Given the description of an element on the screen output the (x, y) to click on. 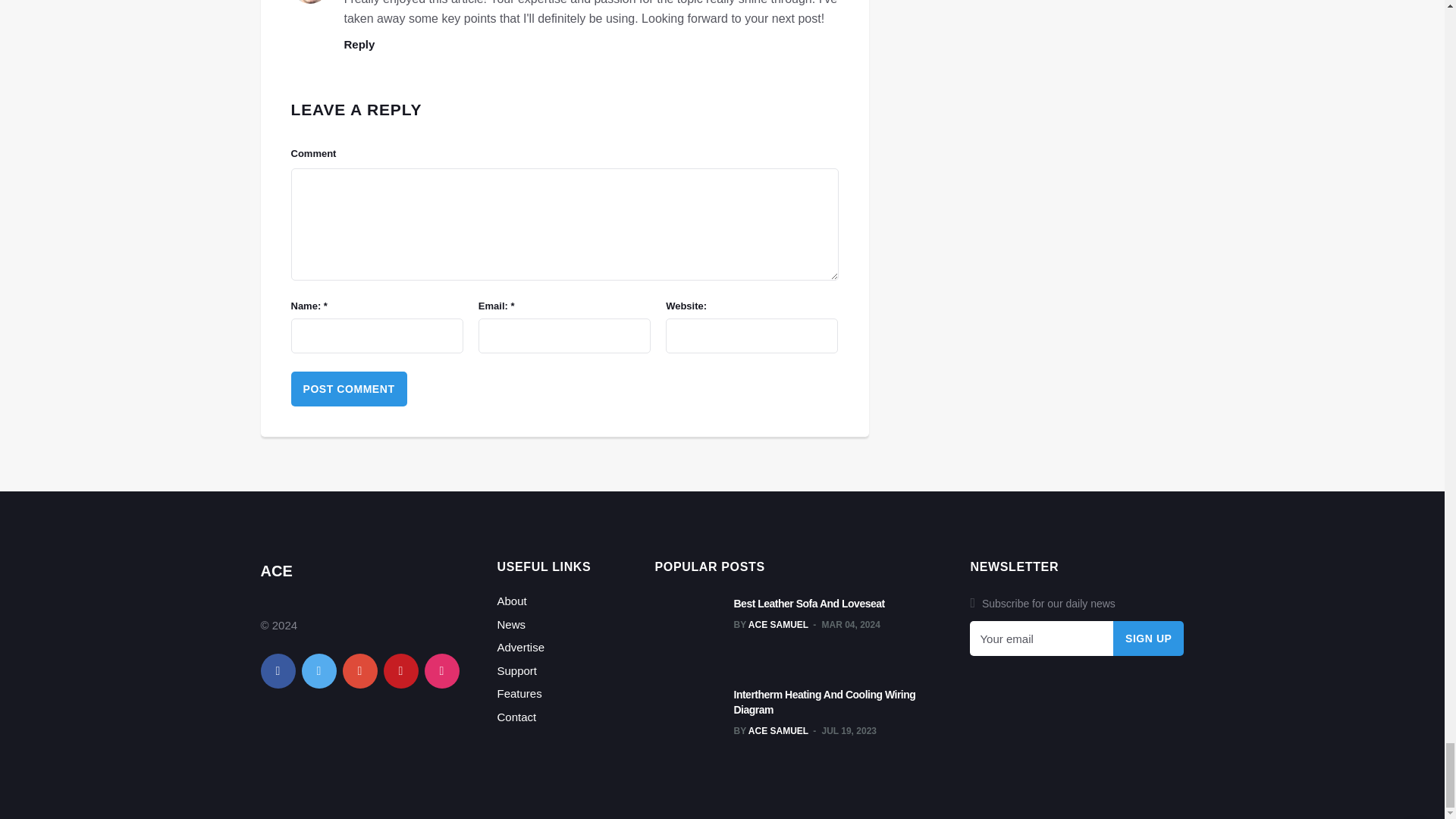
Post Comment (349, 388)
Sign Up (1149, 638)
